Given the description of an element on the screen output the (x, y) to click on. 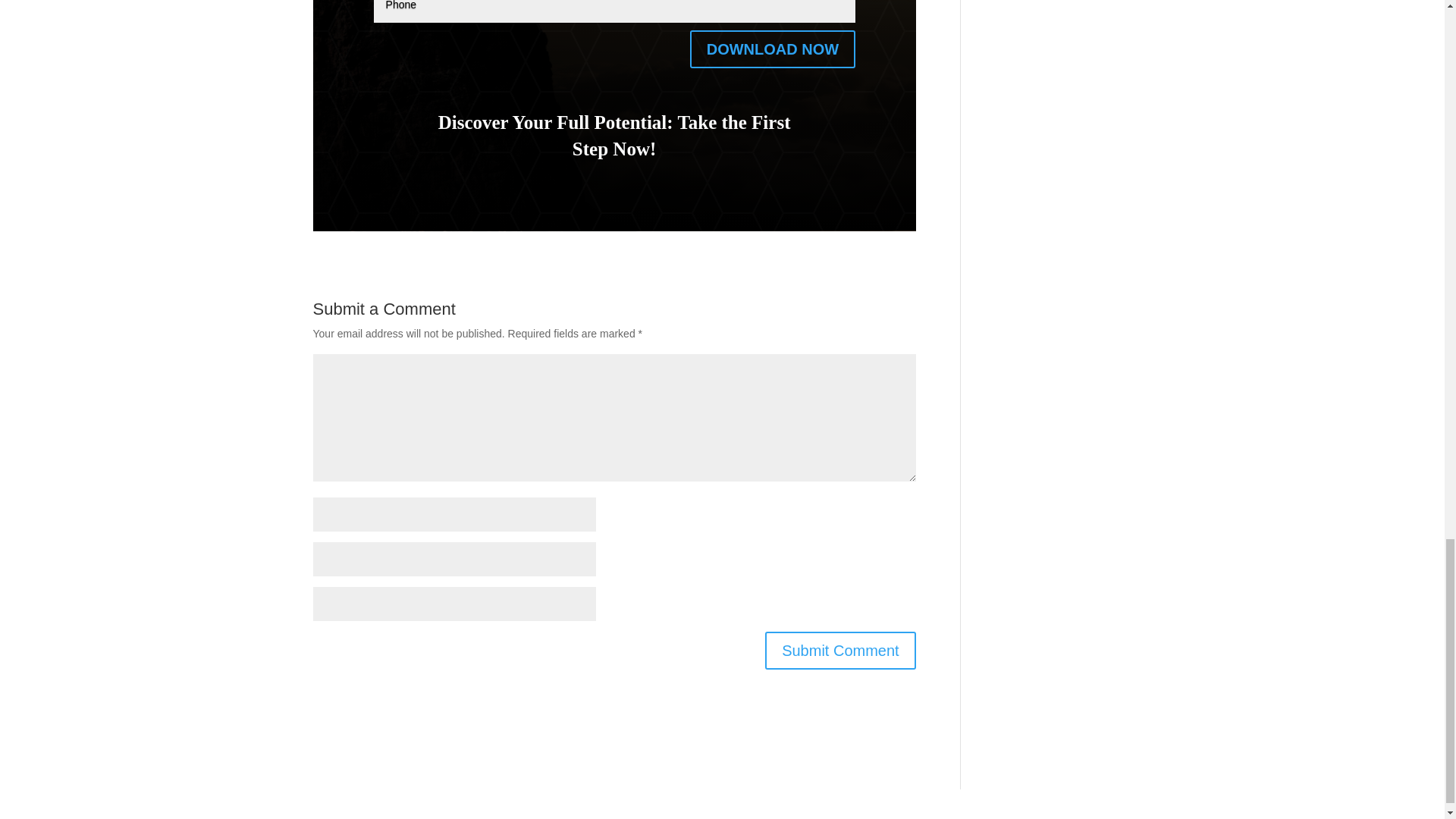
Submit Comment (840, 650)
DOWNLOAD NOW (773, 48)
Submit Comment (840, 650)
